Given the description of an element on the screen output the (x, y) to click on. 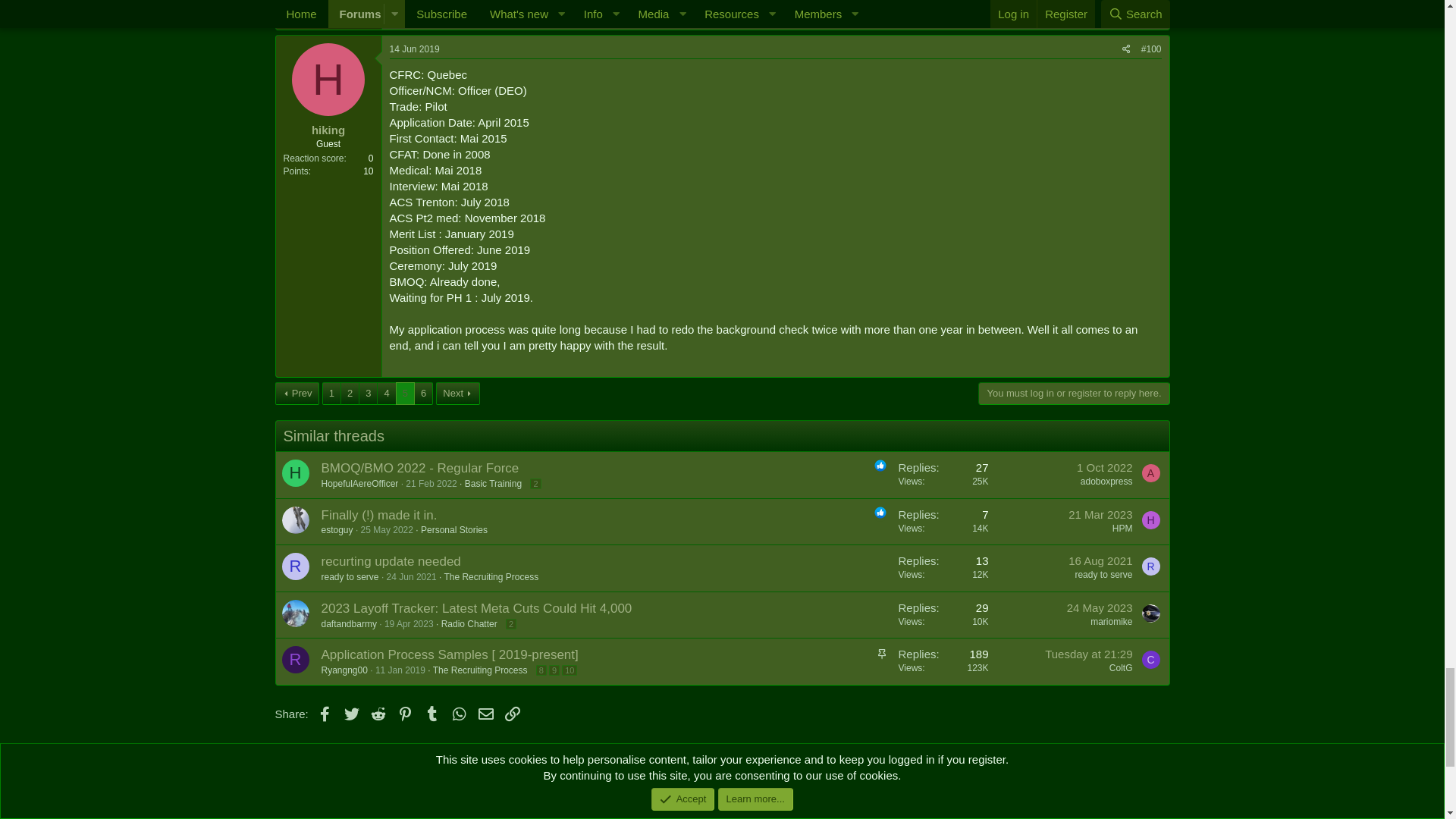
Forums Element type: text (290, 164)
lilshuga Element type: text (328, 393)
2 Element type: text (349, 282)
11 Apr 2018 Element type: text (377, 210)
6 Element type: text (423, 282)
Prev Element type: text (296, 282)
Basic Training Element type: text (462, 164)
jenniemca Element type: text (307, 210)
1 Element type: text (331, 282)
#81 Element type: text (1153, 313)
4 Element type: text (386, 282)
Next Element type: text (458, 282)
Start date Element type: hover (343, 211)
New posts Element type: text (297, 72)
3rd party ad content Element type: hover (451, 248)
3 Element type: text (367, 282)
17 Apr 2019 Element type: text (414, 313)
Search forums Element type: text (364, 72)
5 Element type: text (405, 282)
Thread starter Element type: hover (278, 211)
The Recruiting Office Element type: text (368, 164)
L Element type: text (327, 343)
